Given the description of an element on the screen output the (x, y) to click on. 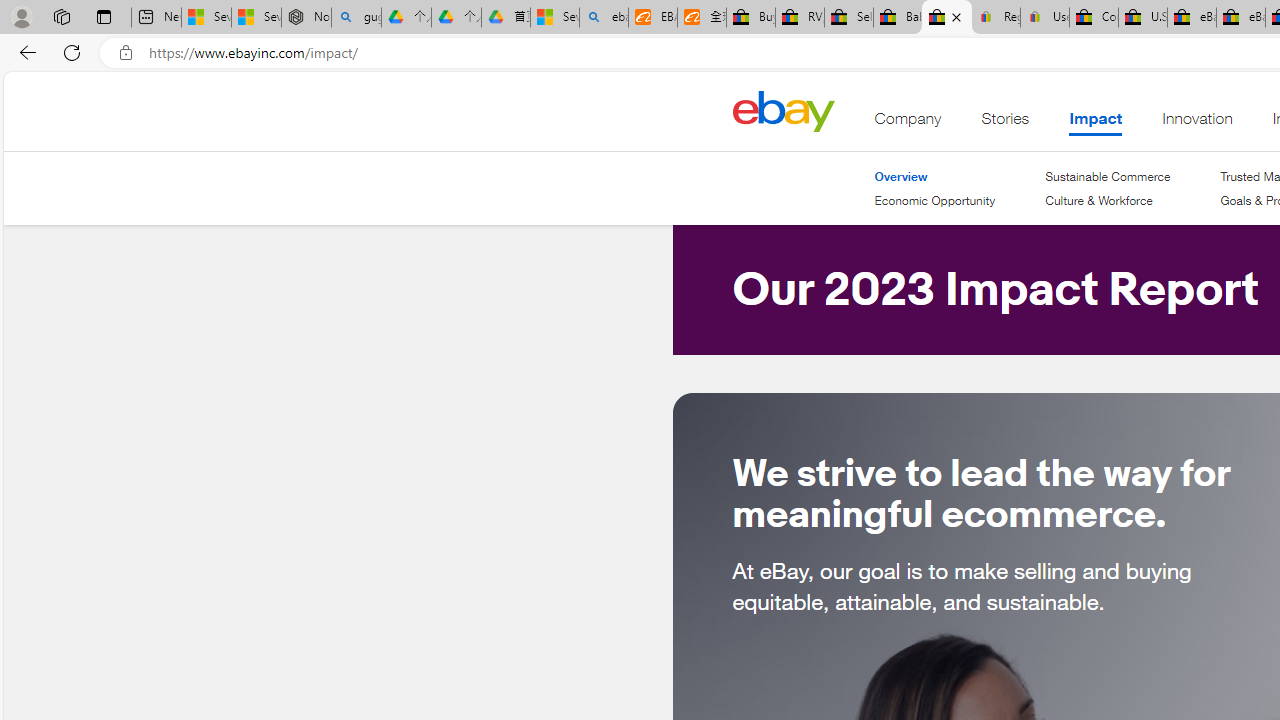
Sustainable Commerce (1107, 176)
Consumer Health Data Privacy Policy - eBay Inc. (1093, 17)
Company (908, 123)
Class: desktop (783, 110)
Overview (901, 176)
Culture & Workforce (1098, 200)
Innovation (1197, 123)
eBay Inc. Reports Third Quarter 2023 Results (1240, 17)
User Privacy Notice | eBay (1044, 17)
eBay Impact - eBay Inc. (946, 17)
